Given the description of an element on the screen output the (x, y) to click on. 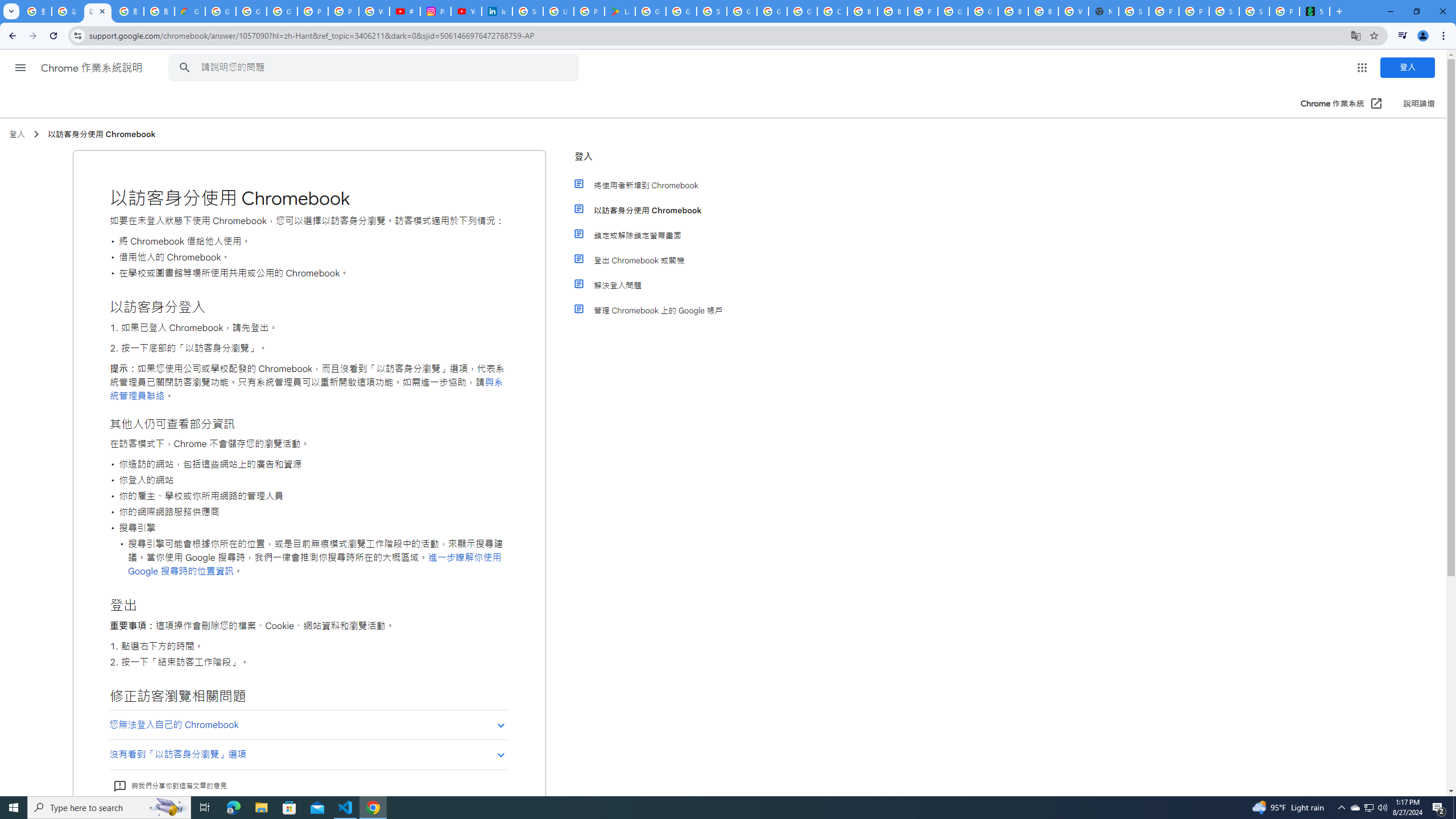
Privacy Help Center - Policies Help (343, 11)
Sign in - Google Accounts (1133, 11)
Sign in - Google Accounts (711, 11)
Browse Chrome as a guest - Computer - Google Chrome Help (862, 11)
Browse Chrome as a guest - Computer - Google Chrome Help (1012, 11)
